Given the description of an element on the screen output the (x, y) to click on. 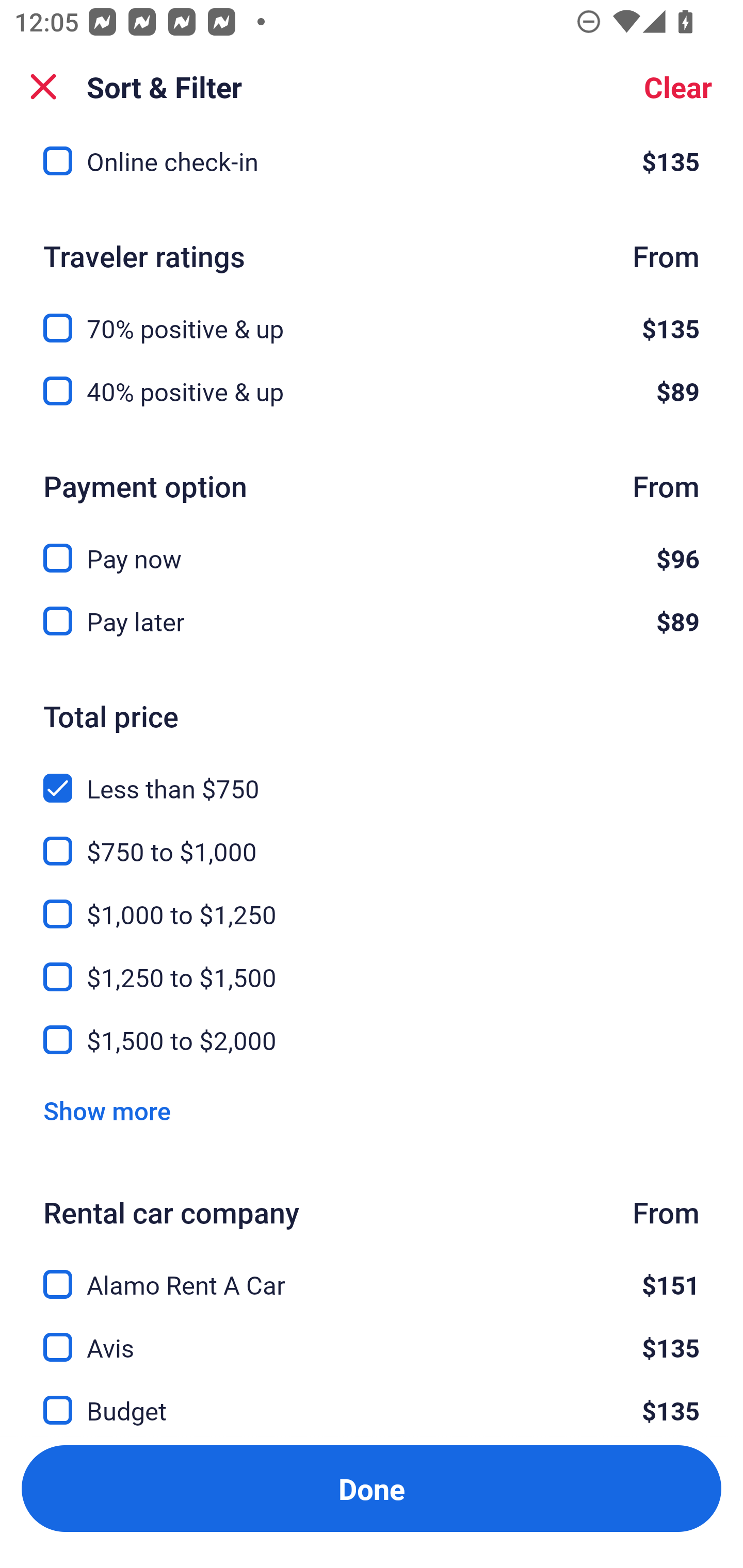
Close Sort and Filter (43, 86)
Clear (677, 86)
Online check-in, $135 Online check-in $135 (371, 167)
70% positive & up, $135 70% positive & up $135 (371, 316)
40% positive & up, $89 40% positive & up $89 (371, 391)
Pay now, $96 Pay now $96 (371, 546)
Pay later, $89 Pay later $89 (371, 621)
Less than $750, Less than $750 (371, 775)
$750 to $1,000, $750 to $1,000 (371, 839)
$1,000 to $1,250, $1,000 to $1,250 (371, 902)
$1,250 to $1,500, $1,250 to $1,500 (371, 965)
$1,500 to $2,000, $1,500 to $2,000 (371, 1040)
Show more Show more Link (106, 1110)
Alamo Rent A Car, $151 Alamo Rent A Car $151 (371, 1272)
Avis, $135 Avis $135 (371, 1335)
Budget, $135 Budget $135 (371, 1398)
Apply and close Sort and Filter Done (371, 1488)
